Given the description of an element on the screen output the (x, y) to click on. 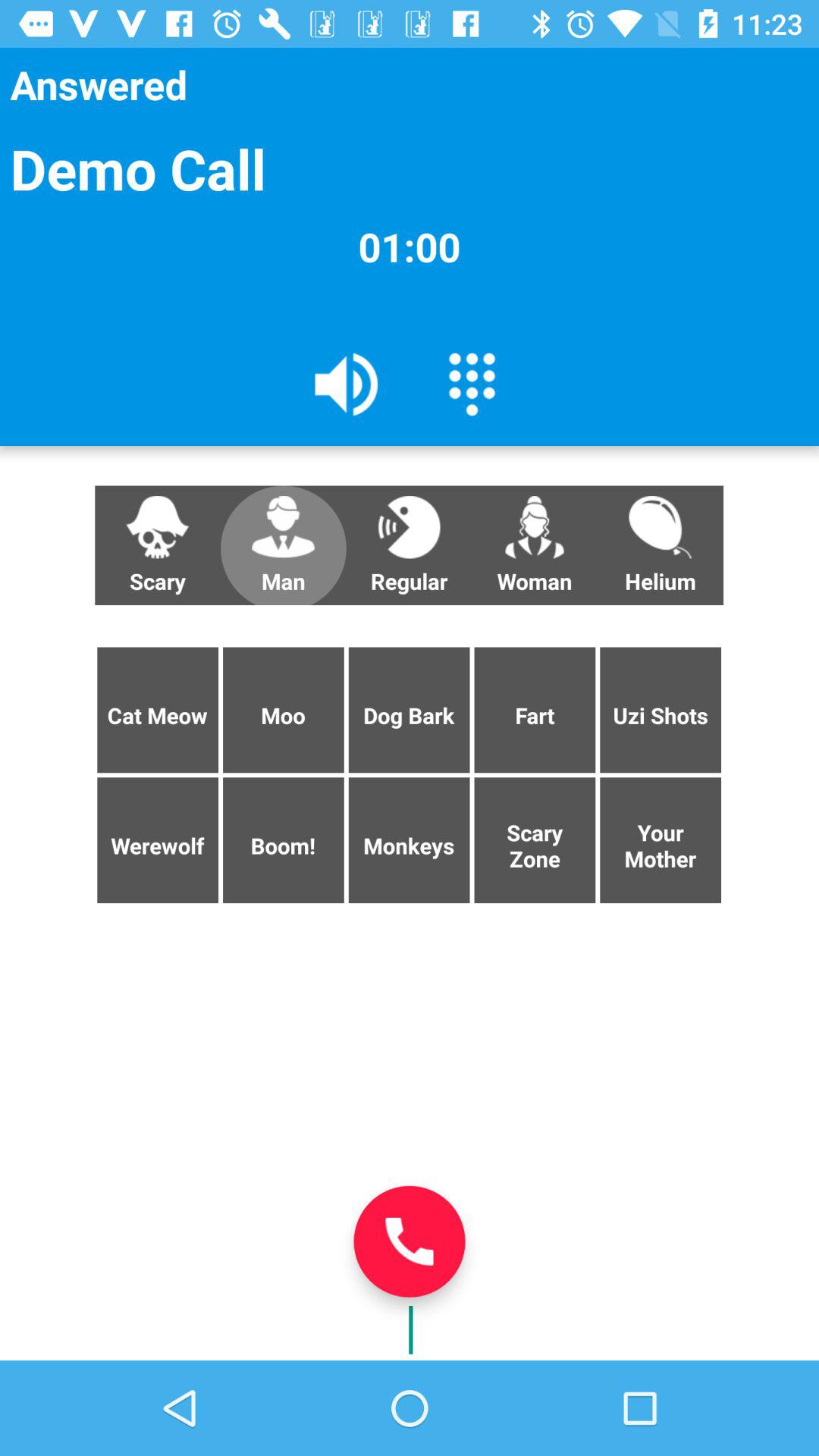
choose helium button (660, 545)
